Given the description of an element on the screen output the (x, y) to click on. 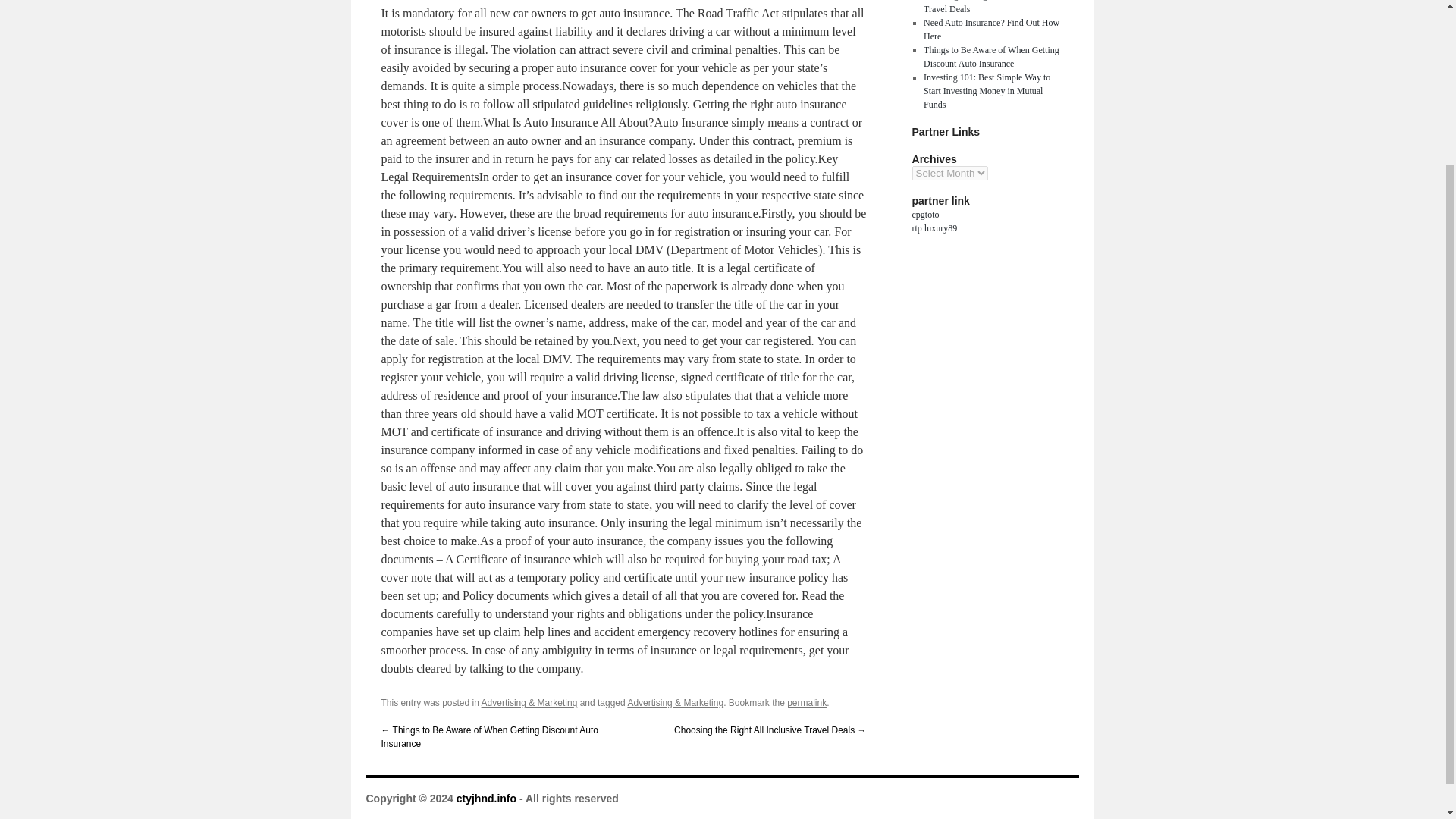
permalink (807, 702)
Choosing the Right All Inclusive Travel Deals (983, 7)
Need Auto Insurance? Find Out How Here (991, 29)
cpgtoto (925, 214)
ctyjhnd.info (486, 798)
Permalink to Need Auto Insurance? Find Out How Here (807, 702)
rtp luxury89 (933, 227)
Things to Be Aware of When Getting Discount Auto Insurance (991, 56)
